Given the description of an element on the screen output the (x, y) to click on. 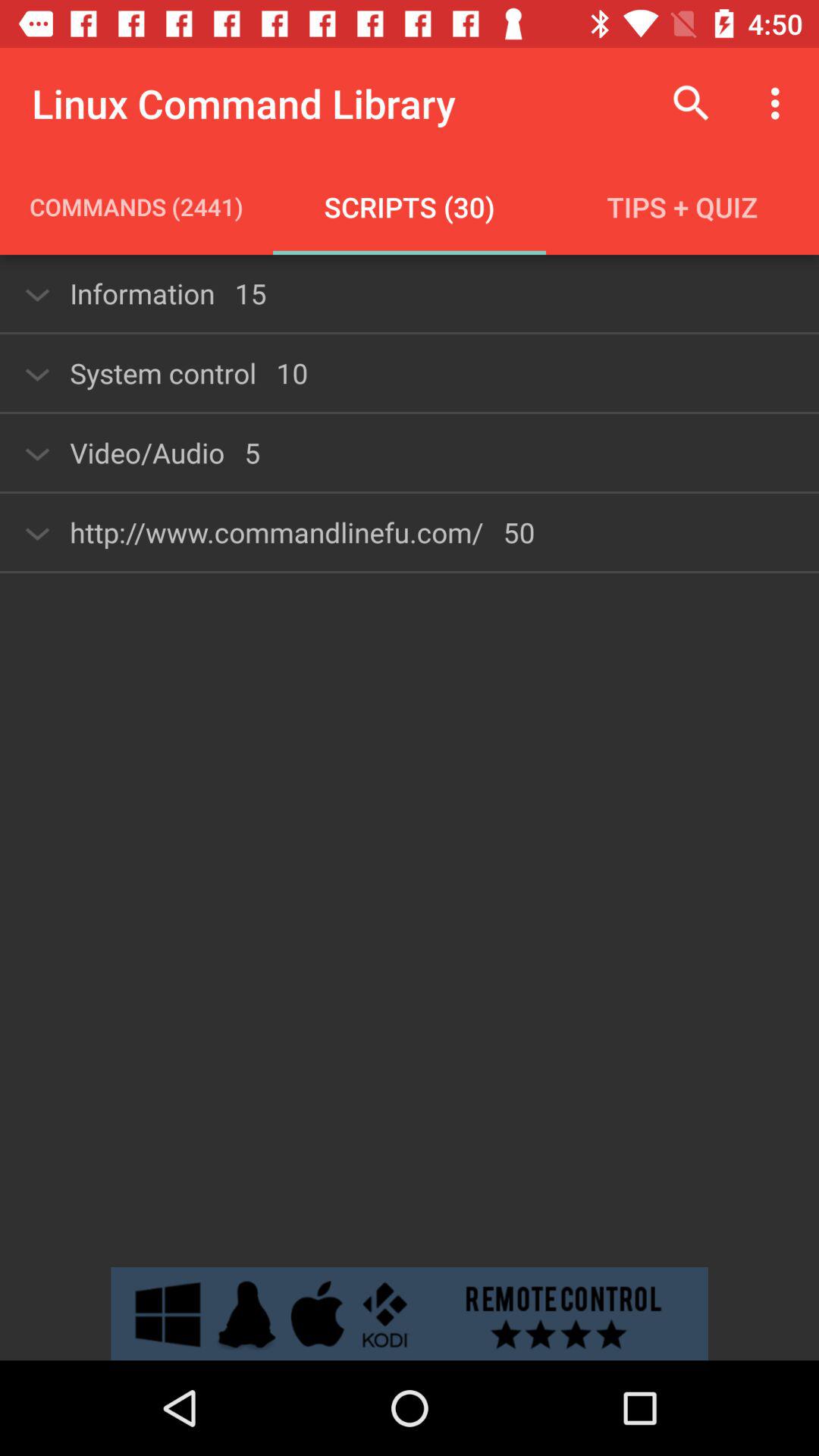
view compatability (409, 1313)
